Given the description of an element on the screen output the (x, y) to click on. 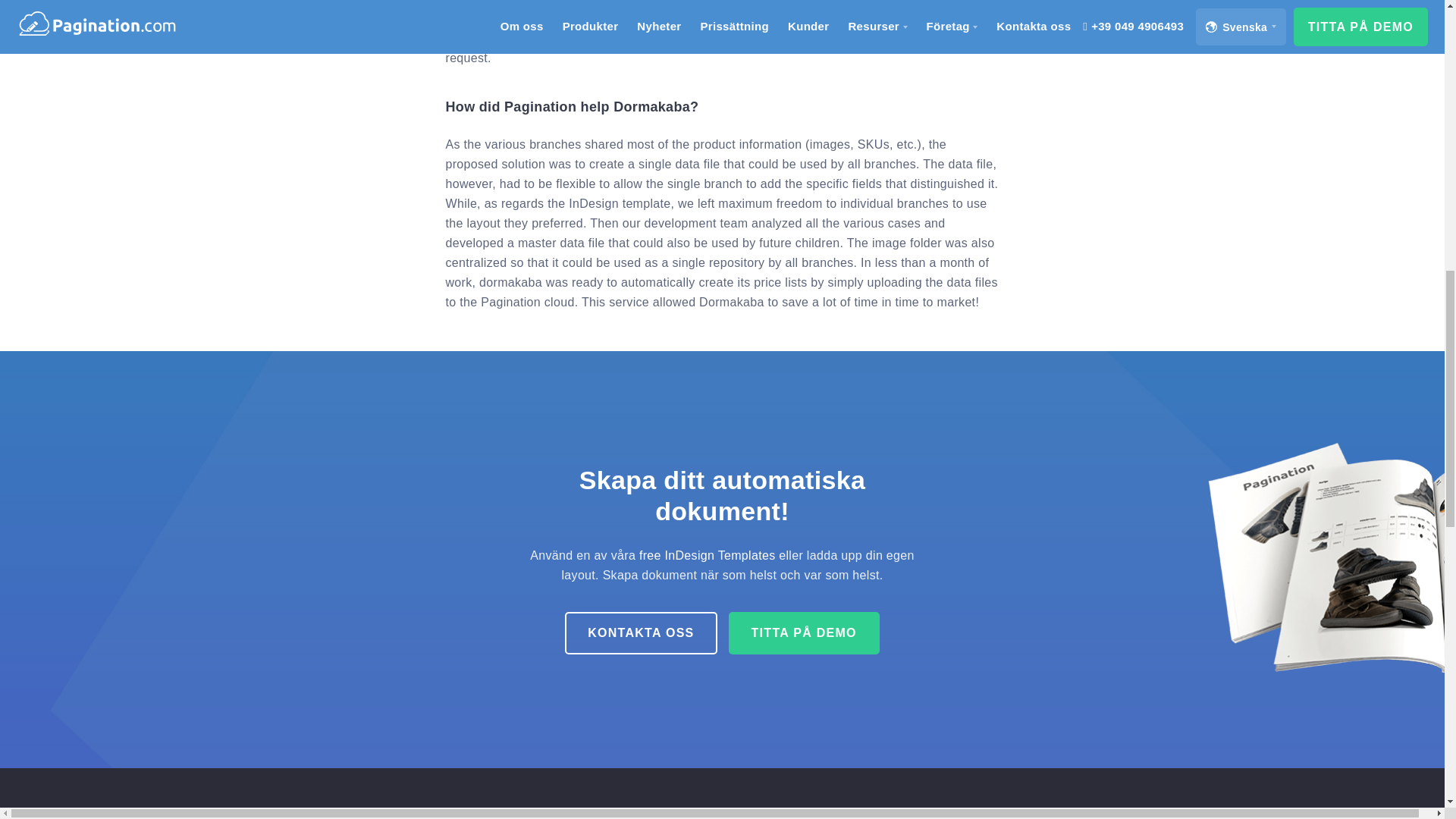
free InDesign Templates (707, 555)
KONTAKTA OSS (640, 632)
